Given the description of an element on the screen output the (x, y) to click on. 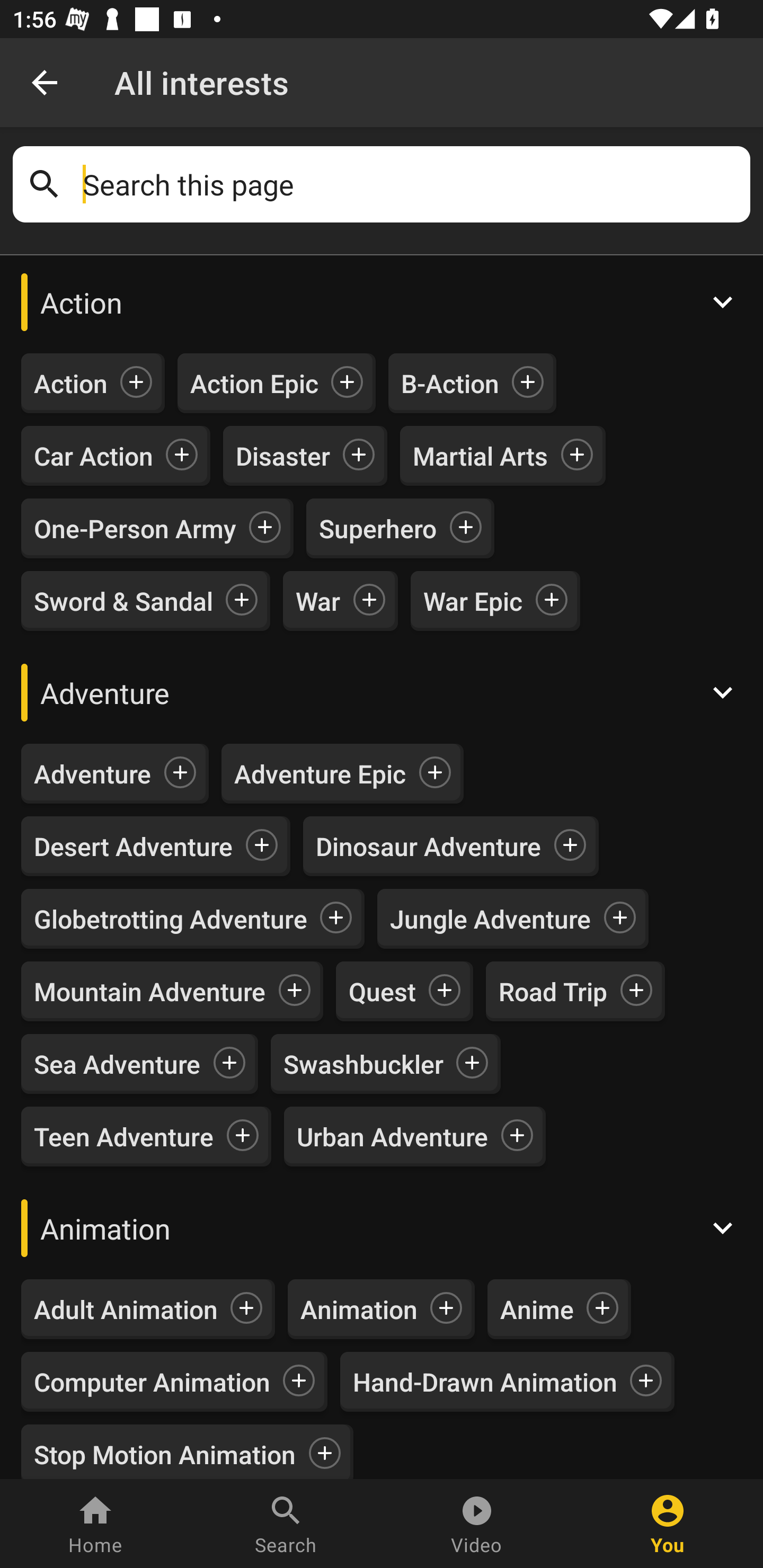
Search this page (410, 184)
Action (381, 301)
Action (70, 382)
Action Epic (254, 382)
B-Action (449, 382)
Car Action (93, 456)
Disaster (282, 456)
Martial Arts (479, 456)
One-Person Army (134, 528)
Superhero (377, 528)
Sword & Sandal (123, 600)
War (318, 600)
War Epic (472, 600)
Adventure (381, 692)
Adventure (92, 772)
Adventure Epic (319, 772)
Desert Adventure (133, 846)
Dinosaur Adventure (427, 846)
Globetrotting Adventure (170, 918)
Jungle Adventure (490, 918)
Mountain Adventure (149, 990)
Quest (381, 990)
Road Trip (553, 990)
Sea Adventure (117, 1063)
Swashbuckler (363, 1063)
Teen Adventure (123, 1136)
Urban Adventure (392, 1136)
Animation (381, 1228)
Adult Animation (125, 1309)
Animation (358, 1309)
Anime (536, 1309)
Computer Animation (152, 1381)
Hand-Drawn Animation (485, 1381)
Stop Motion Animation (165, 1450)
Home (95, 1523)
Search (285, 1523)
Video (476, 1523)
